Given the description of an element on the screen output the (x, y) to click on. 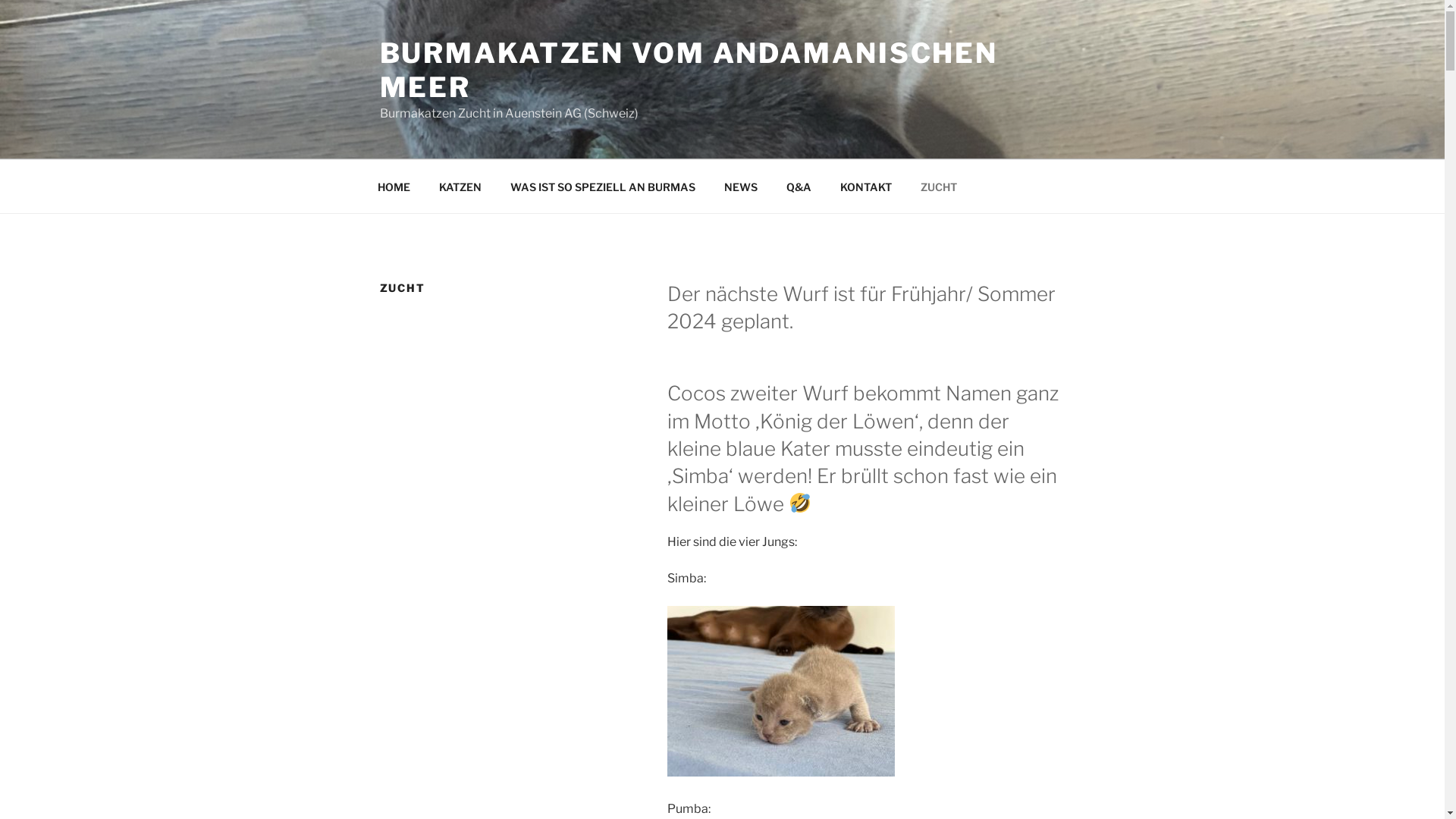
KATZEN Element type: text (460, 186)
BURMAKATZEN VOM ANDAMANISCHEN MEER Element type: text (688, 69)
WAS IST SO SPEZIELL AN BURMAS Element type: text (603, 186)
ZUCHT Element type: text (937, 186)
HOME Element type: text (393, 186)
KONTAKT Element type: text (865, 186)
Q&A Element type: text (799, 186)
NEWS Element type: text (741, 186)
